Given the description of an element on the screen output the (x, y) to click on. 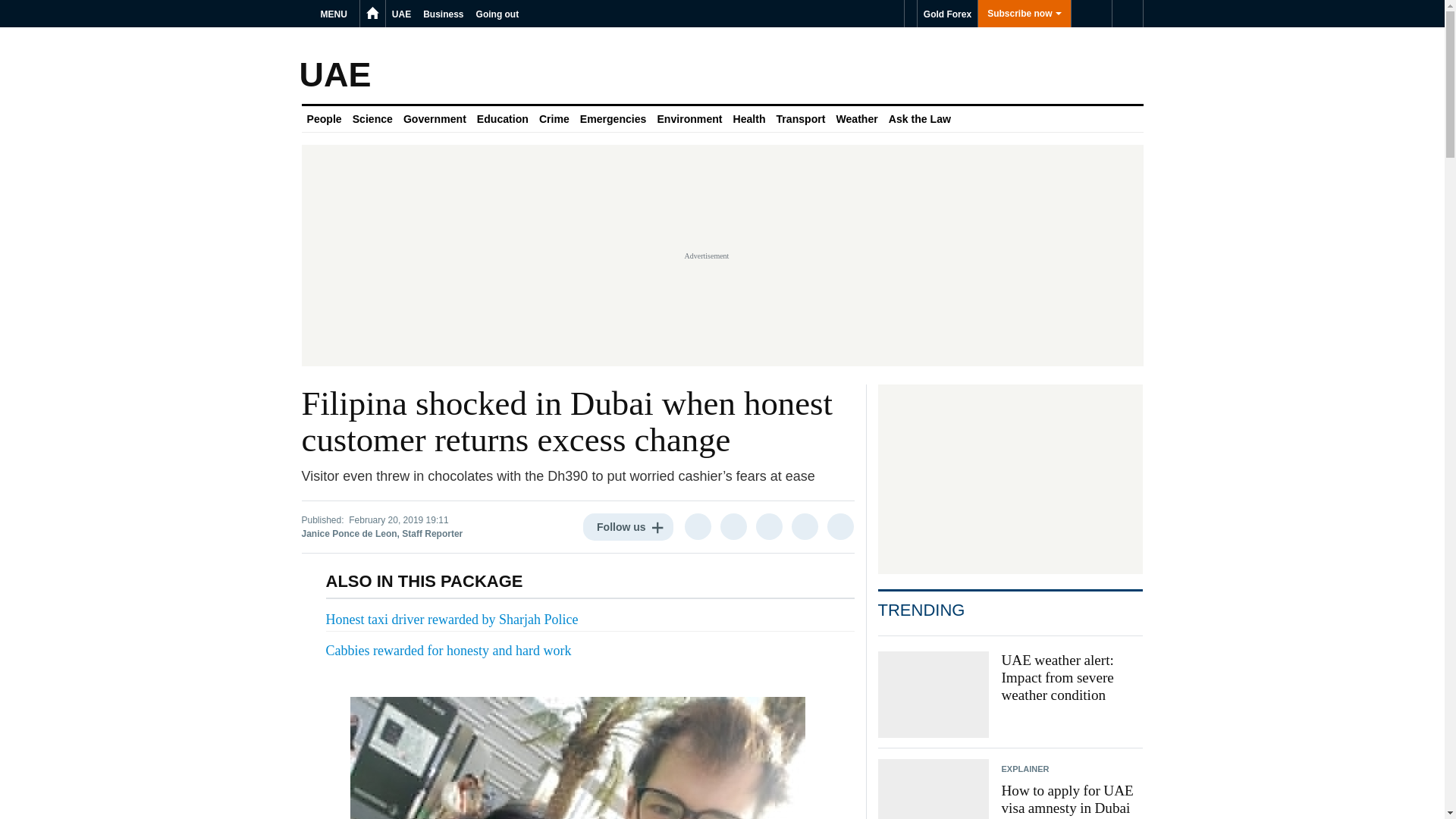
Business (442, 13)
MENU (336, 13)
Going out (497, 13)
Gold Forex (946, 13)
Subscribe now (1024, 13)
UAE (400, 13)
